Given the description of an element on the screen output the (x, y) to click on. 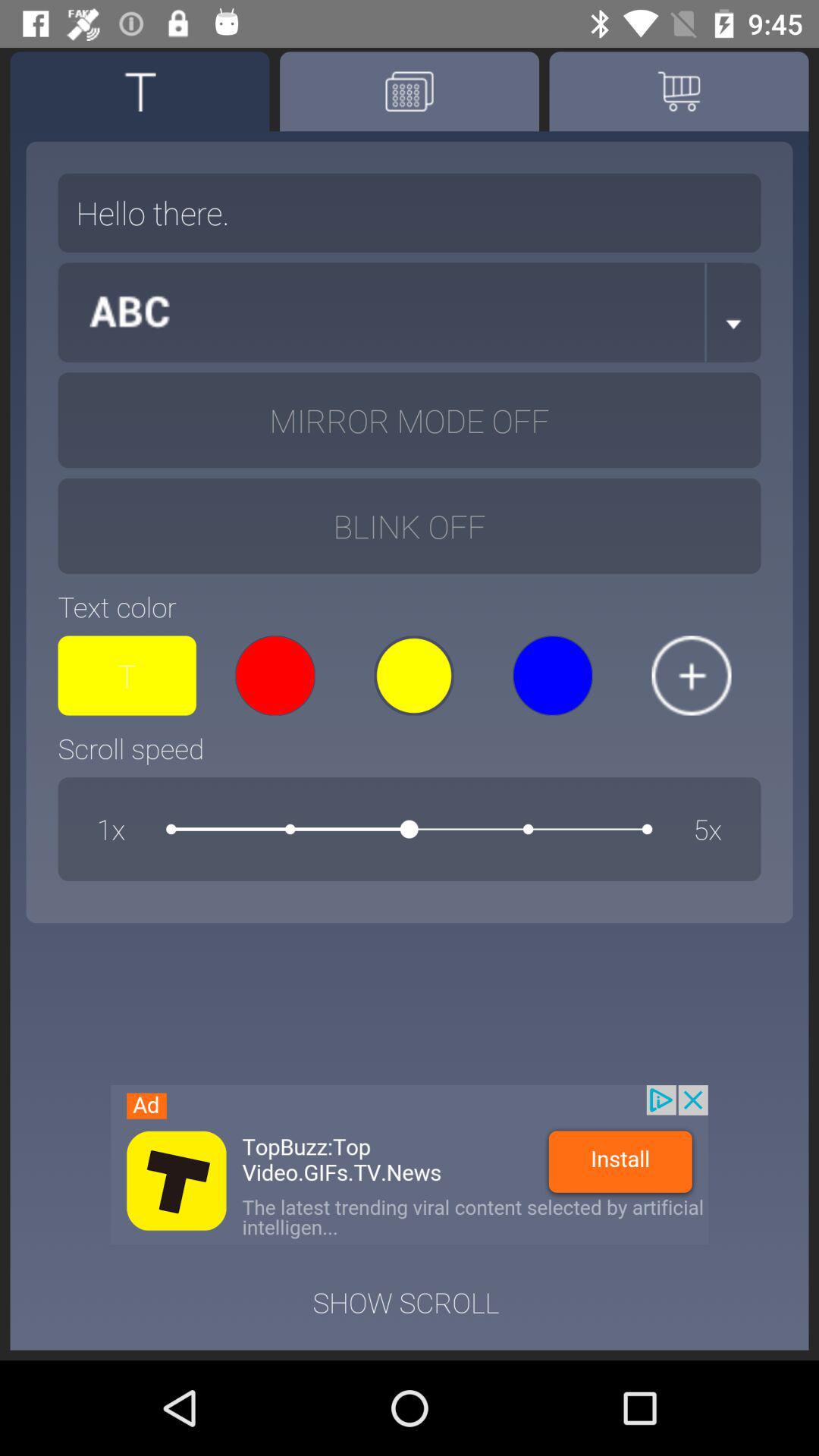
add increase (691, 675)
